Given the description of an element on the screen output the (x, y) to click on. 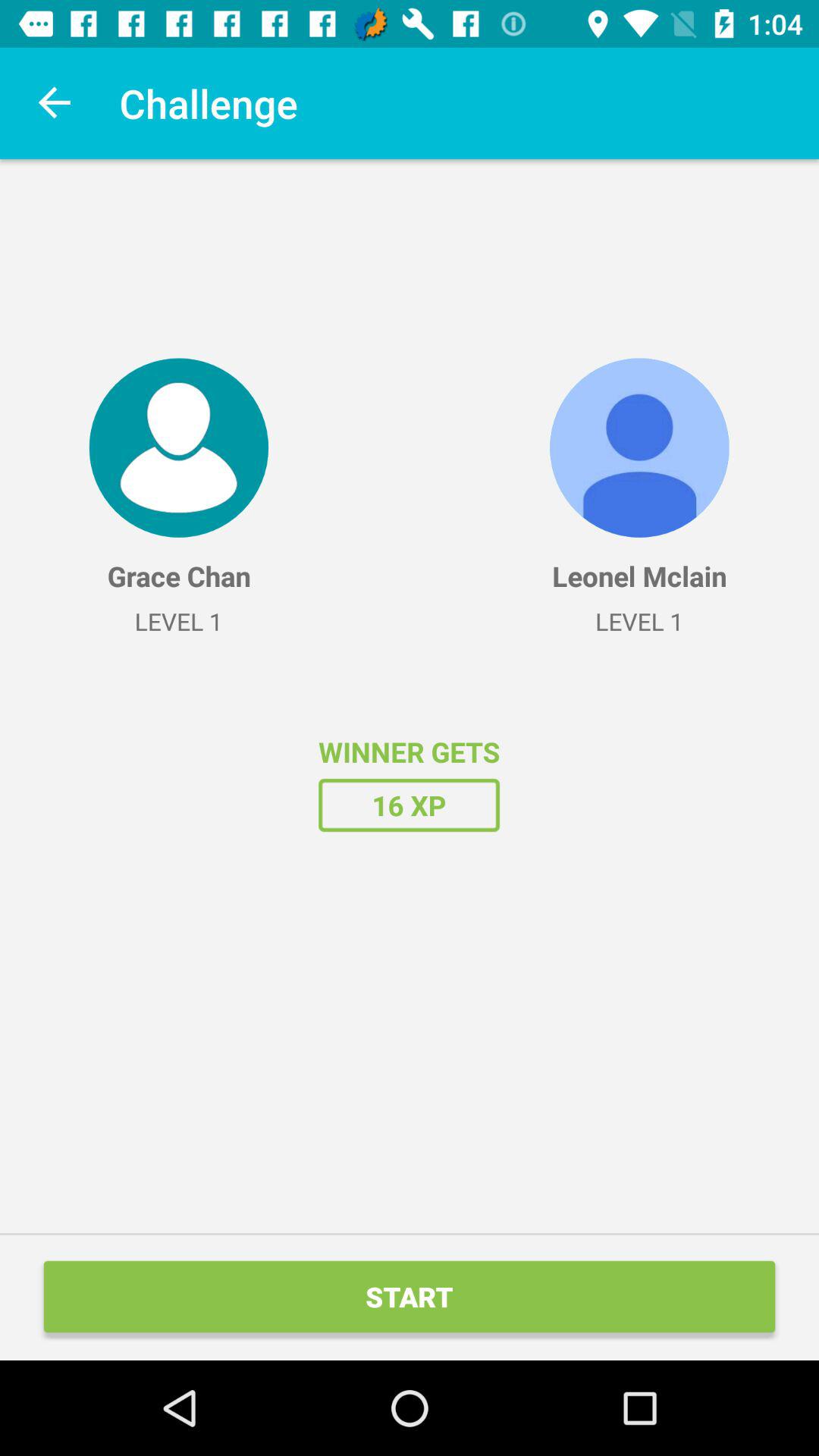
scroll until start item (409, 1296)
